Given the description of an element on the screen output the (x, y) to click on. 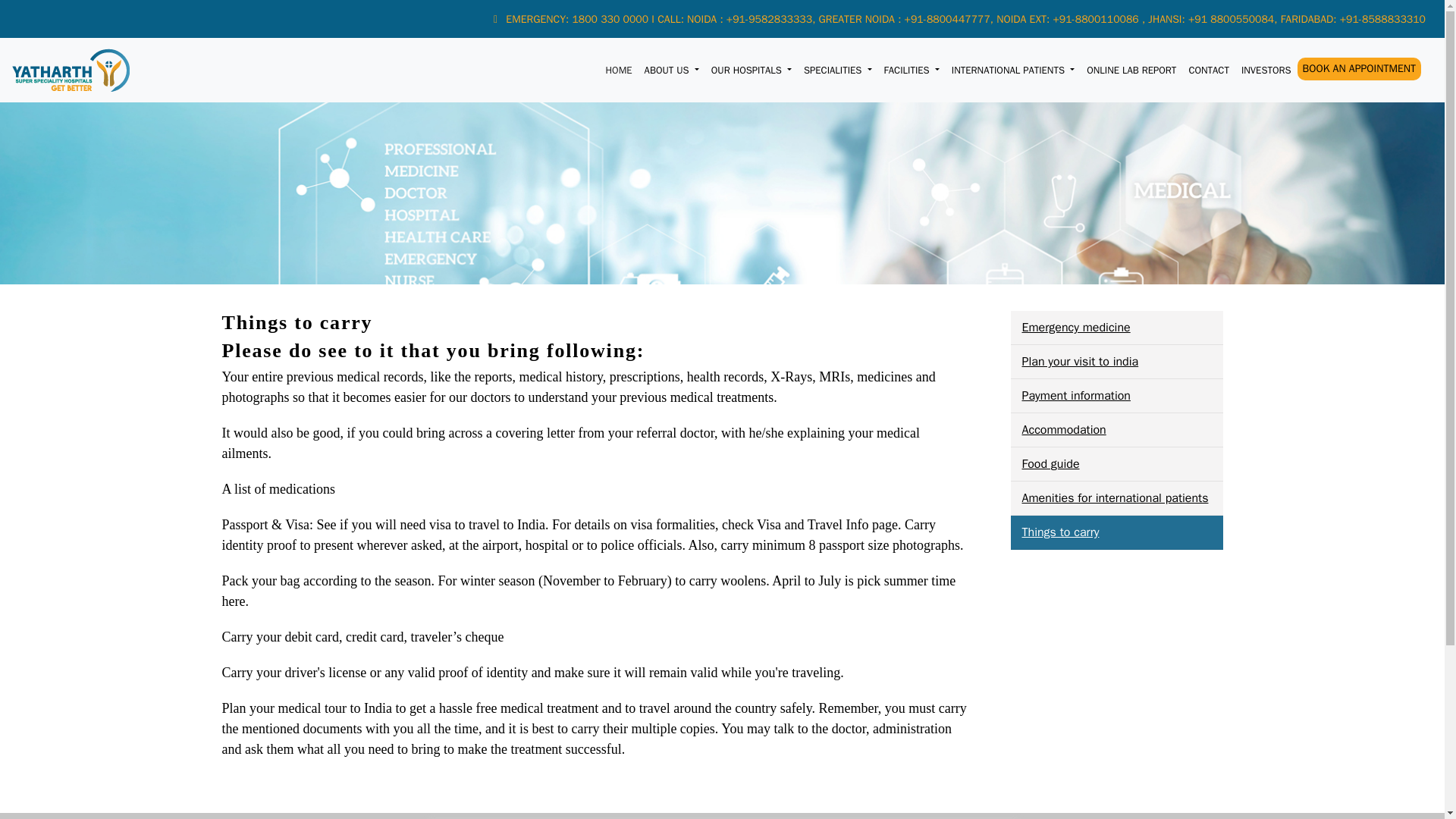
ABOUT US (671, 70)
1800 330 0000 (611, 18)
OUR HOSPITALS (750, 70)
HOME (619, 70)
SPECIALITIES (837, 70)
